Given the description of an element on the screen output the (x, y) to click on. 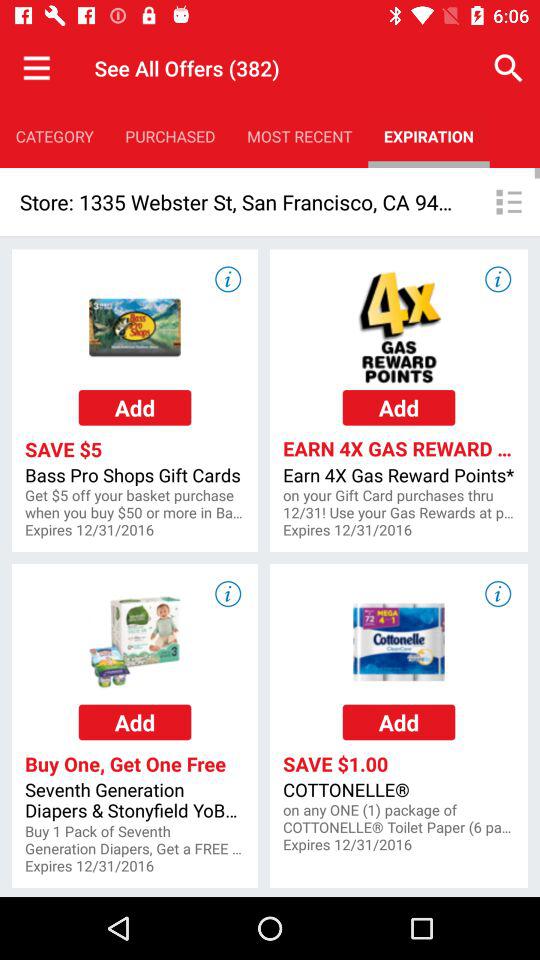
choose app to the left of earn 4x gas app (134, 504)
